Given the description of an element on the screen output the (x, y) to click on. 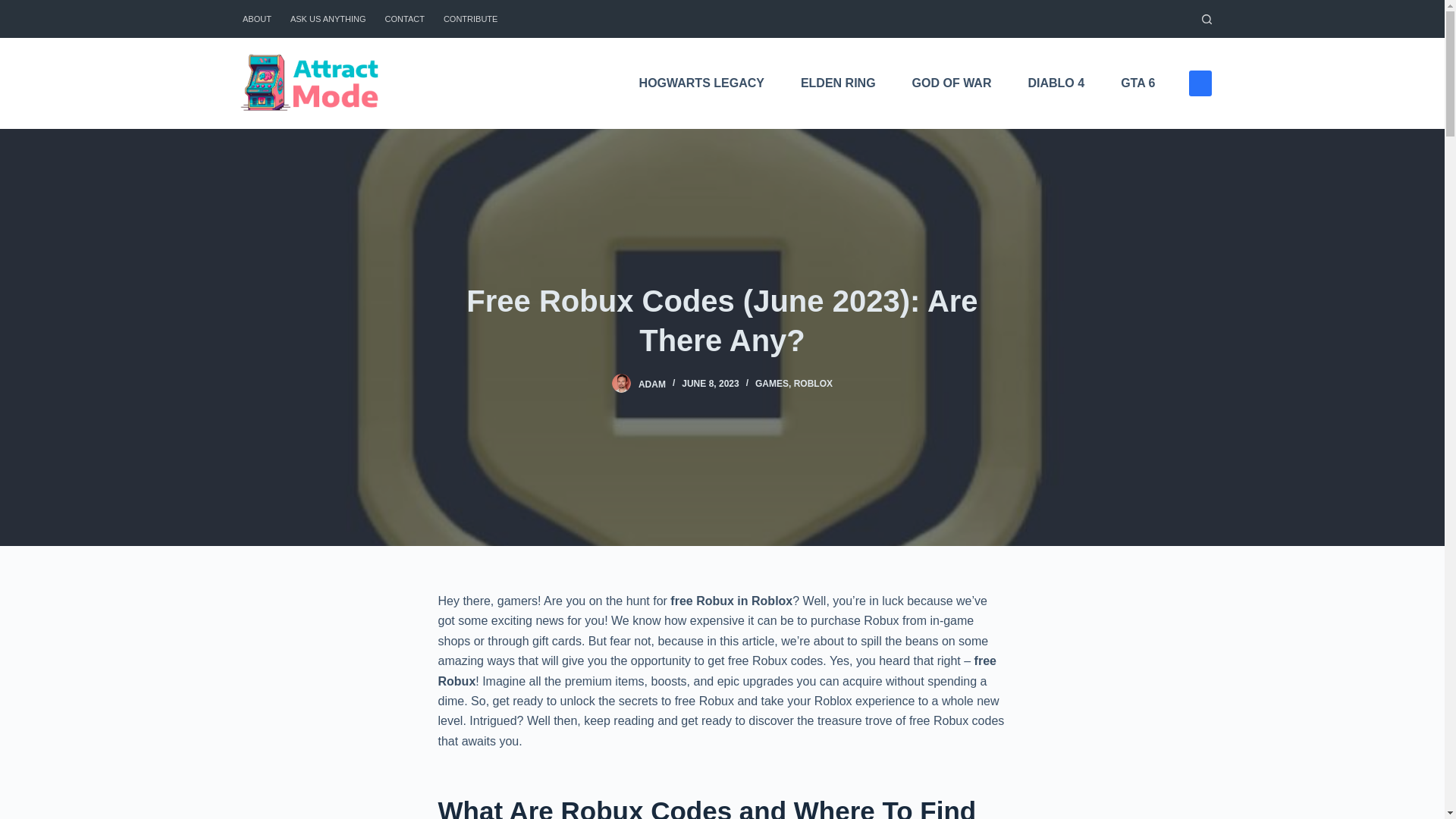
ADAM (652, 383)
Skip to content (15, 7)
DIABLO 4 (1055, 82)
ASK US ANYTHING (328, 18)
GAMES (772, 383)
CONTACT (404, 18)
HOGWARTS LEGACY (702, 82)
GOD OF WAR (951, 82)
ROBLOX (812, 383)
ELDEN RING (838, 82)
CONTRIBUTE (469, 18)
ABOUT (256, 18)
Posts by Adam (652, 383)
